Given the description of an element on the screen output the (x, y) to click on. 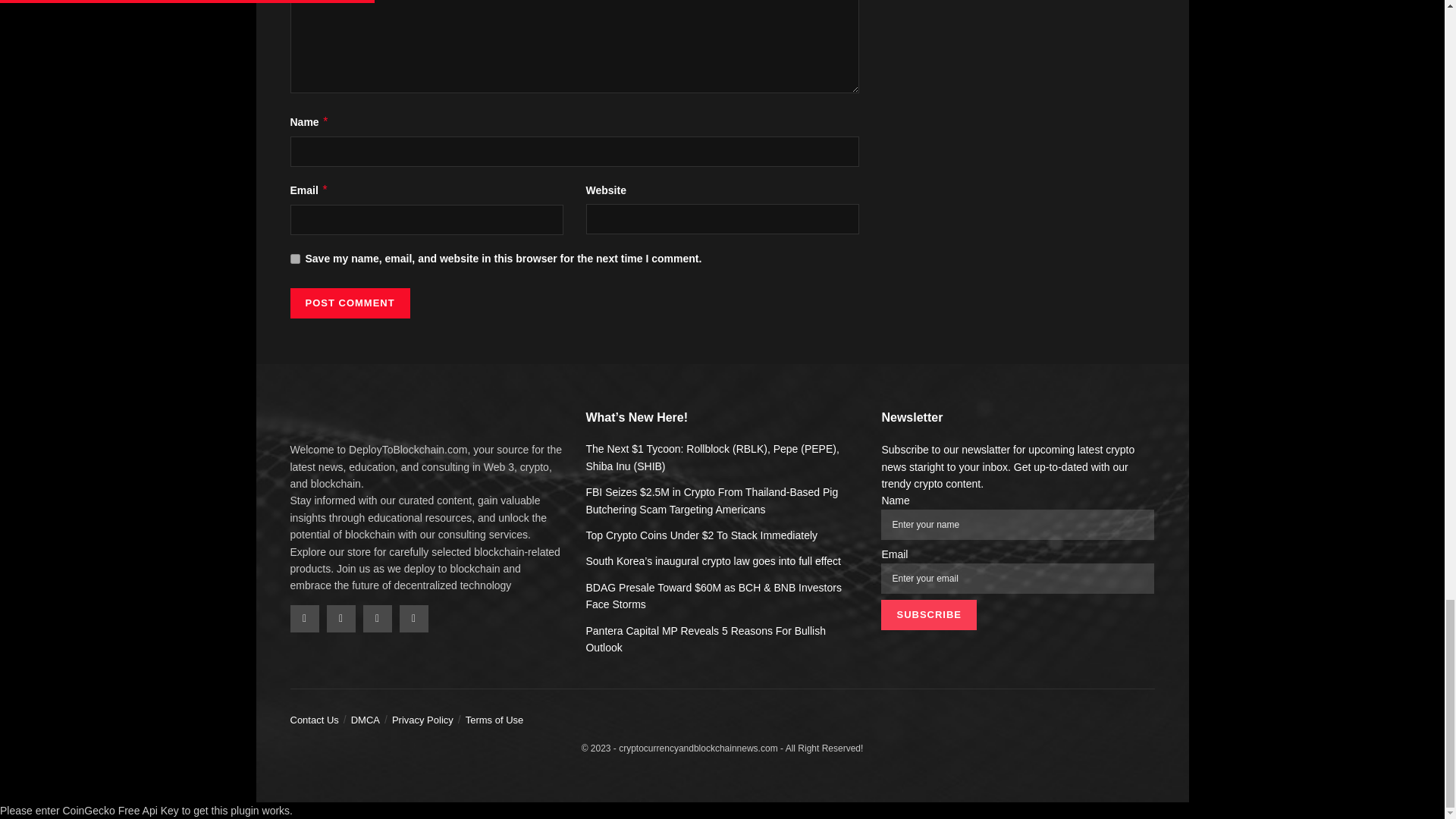
yes (294, 258)
Subscribe (928, 614)
Post Comment (349, 303)
